Given the description of an element on the screen output the (x, y) to click on. 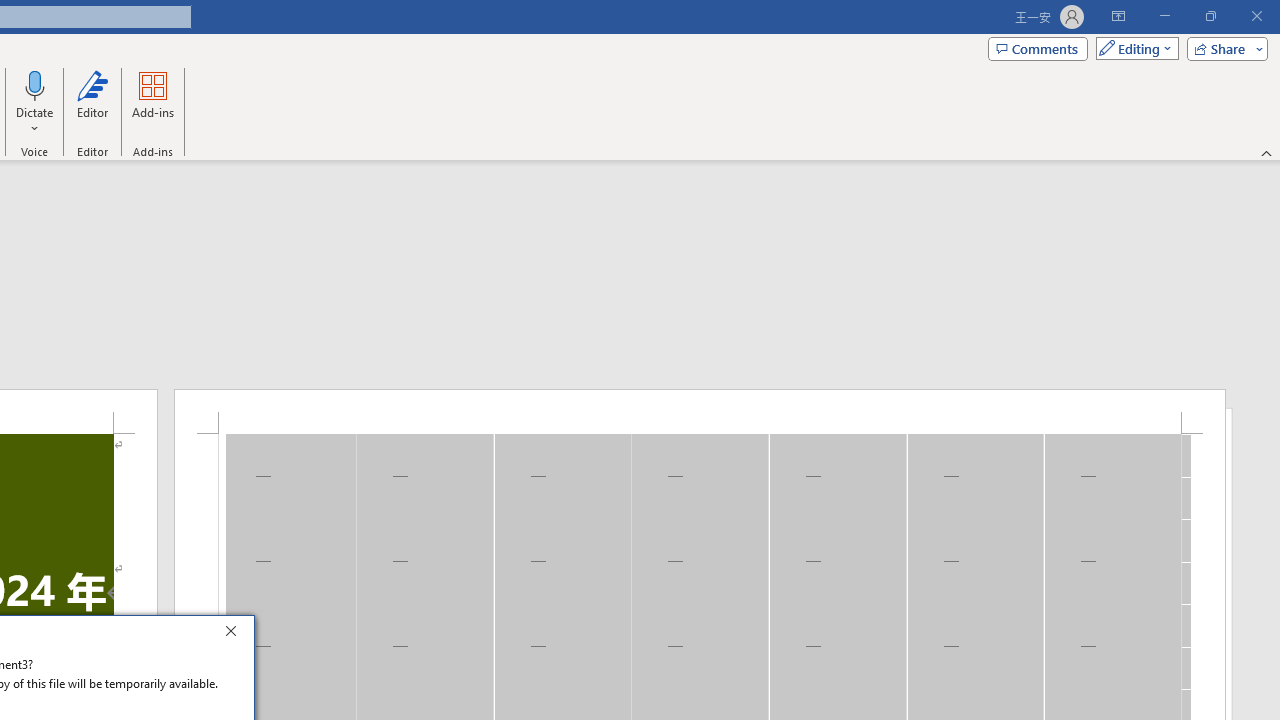
Header -Section 1- (700, 411)
